Given the description of an element on the screen output the (x, y) to click on. 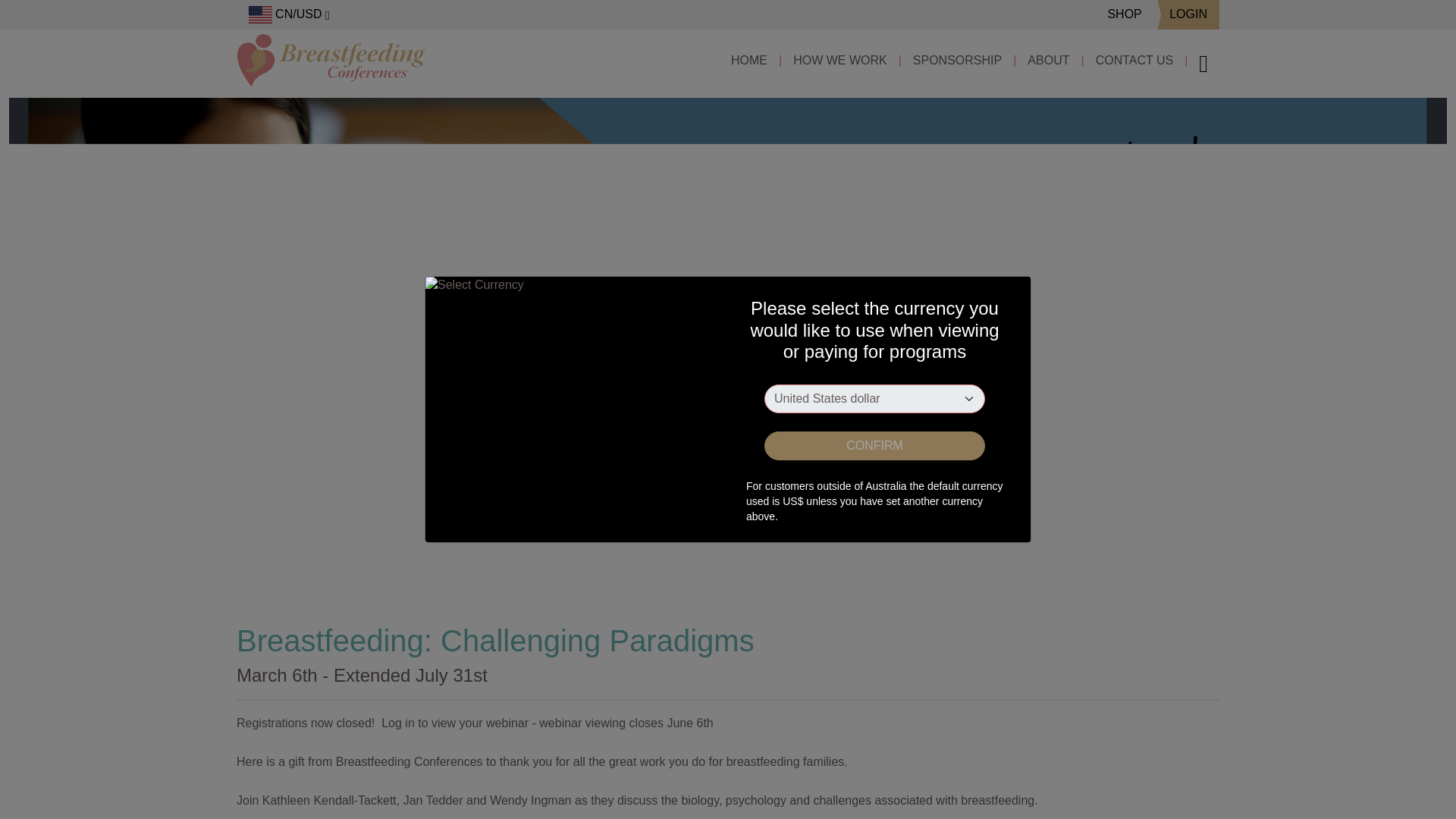
ABOUT (1048, 60)
HOW WE WORK (839, 60)
SHOP (1123, 14)
HOME (748, 60)
LOGIN (1188, 14)
SPONSORSHIP (957, 60)
CONFIRM (874, 445)
CONTACT US (1134, 60)
